Given the description of an element on the screen output the (x, y) to click on. 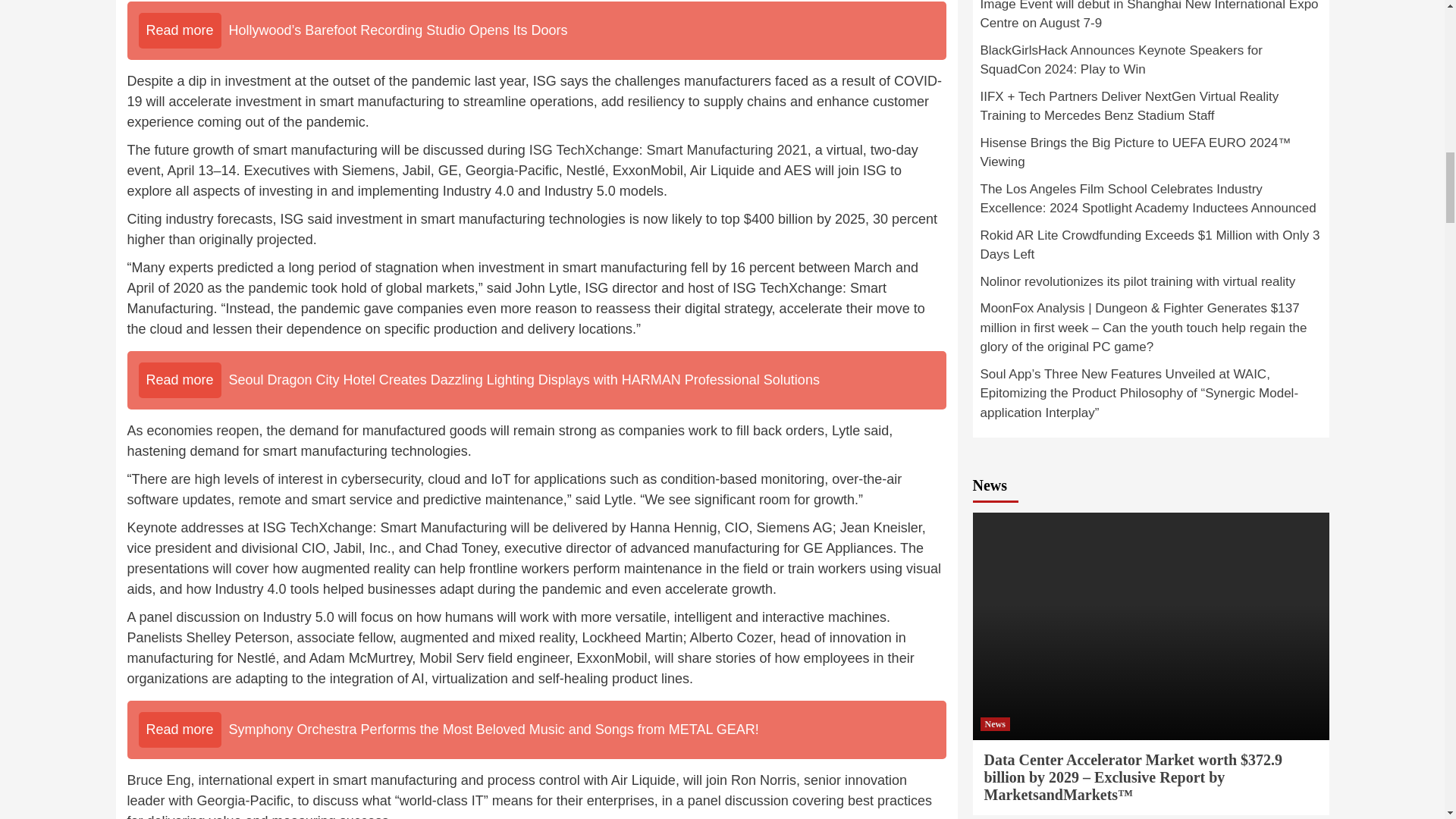
ISG TechXchange: Smart Manufacturing 2021 (668, 150)
